Given the description of an element on the screen output the (x, y) to click on. 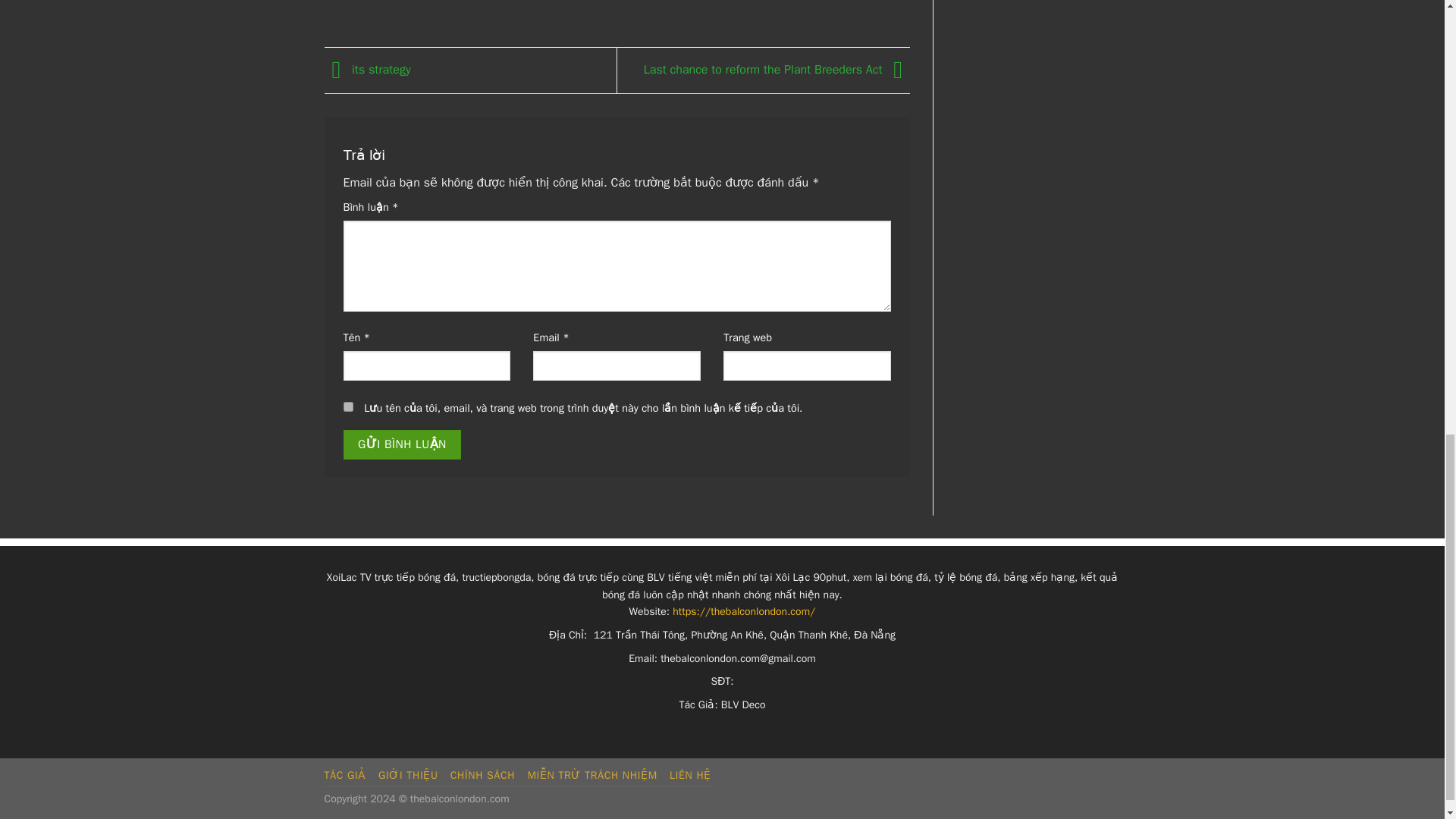
yes (347, 406)
its strategy (367, 69)
Last chance to reform the Plant Breeders Act (776, 69)
